Given the description of an element on the screen output the (x, y) to click on. 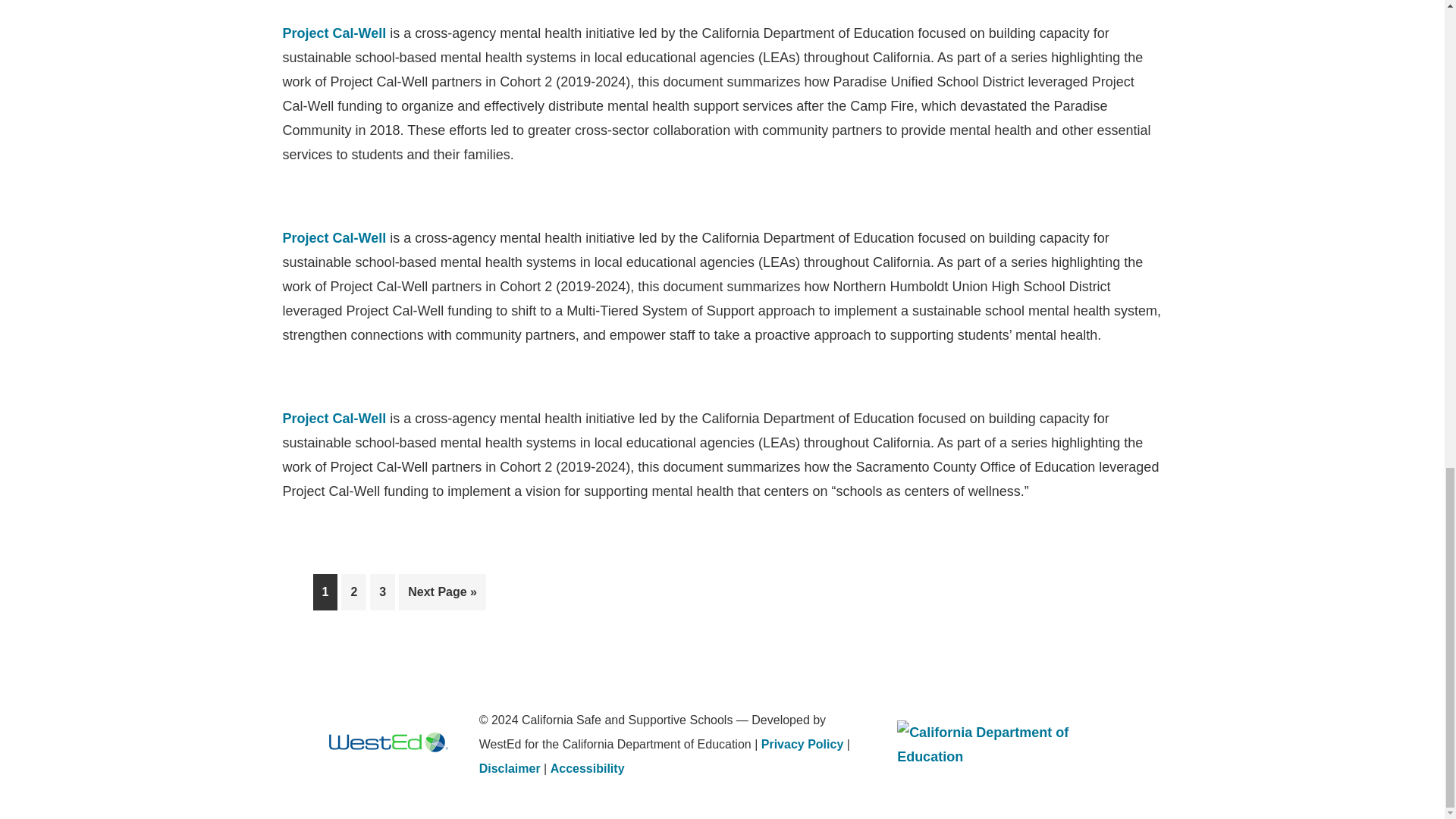
Project Cal-Well (333, 237)
Project Cal-Well (333, 418)
Project Cal-Well (333, 32)
